Given the description of an element on the screen output the (x, y) to click on. 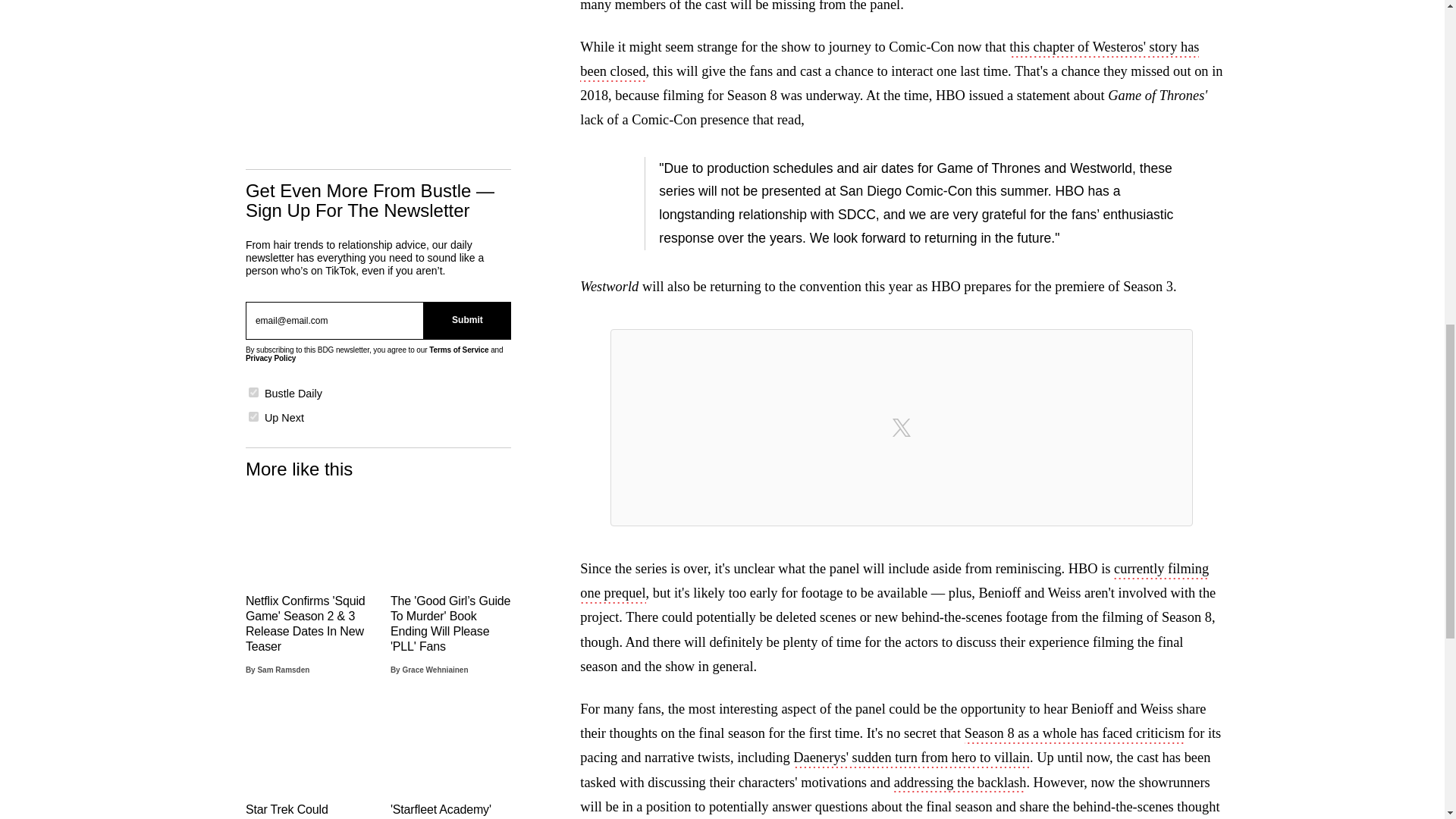
Privacy Policy (270, 357)
Submit (467, 320)
Star Trek Could Suddenly Return To a Hidden Tradition (306, 762)
Season 8 as a whole has faced criticism (1074, 734)
addressing the backlash (959, 783)
Terms of Service (458, 349)
this chapter of Westeros' story has been closed (888, 60)
Daenerys' sudden turn from hero to villain (911, 759)
currently filming one prequel (893, 582)
